Given the description of an element on the screen output the (x, y) to click on. 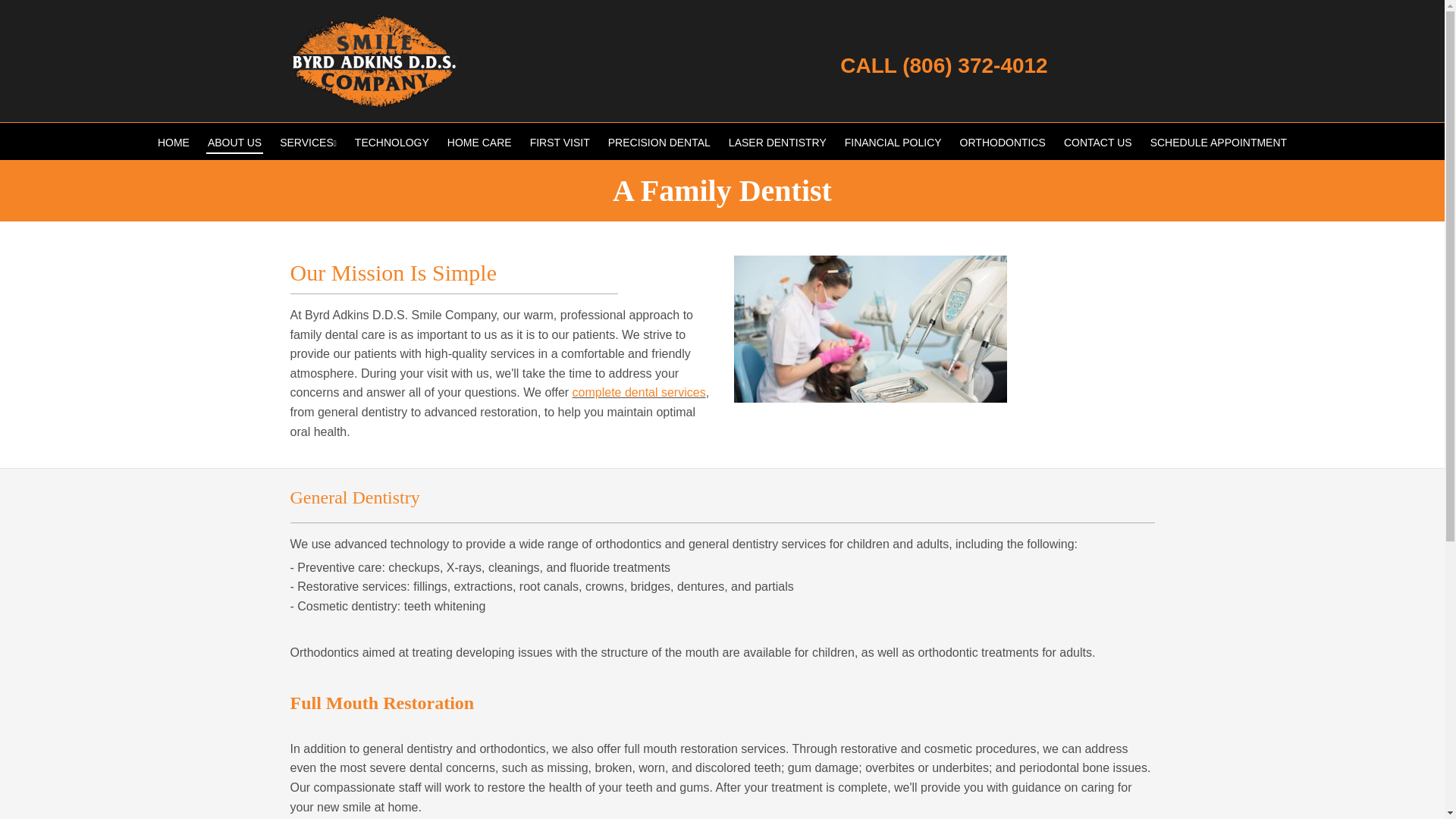
HOME (172, 139)
ORTHODONTICS (1002, 139)
Skip to content (48, 7)
Skip to content (48, 7)
FIRST VISIT (559, 139)
SCHEDULE APPOINTMENT (1218, 139)
FINANCIAL POLICY (893, 139)
complete dental services (639, 391)
PRECISION DENTAL (659, 139)
CONTACT US (1098, 139)
 TOOTH EXTRACTION  TEETH WHITENING  links (332, 139)
LASER DENTISTRY (777, 139)
TECHNOLOGY (391, 139)
ABOUT US (234, 139)
SERVICES (307, 139)
